Given the description of an element on the screen output the (x, y) to click on. 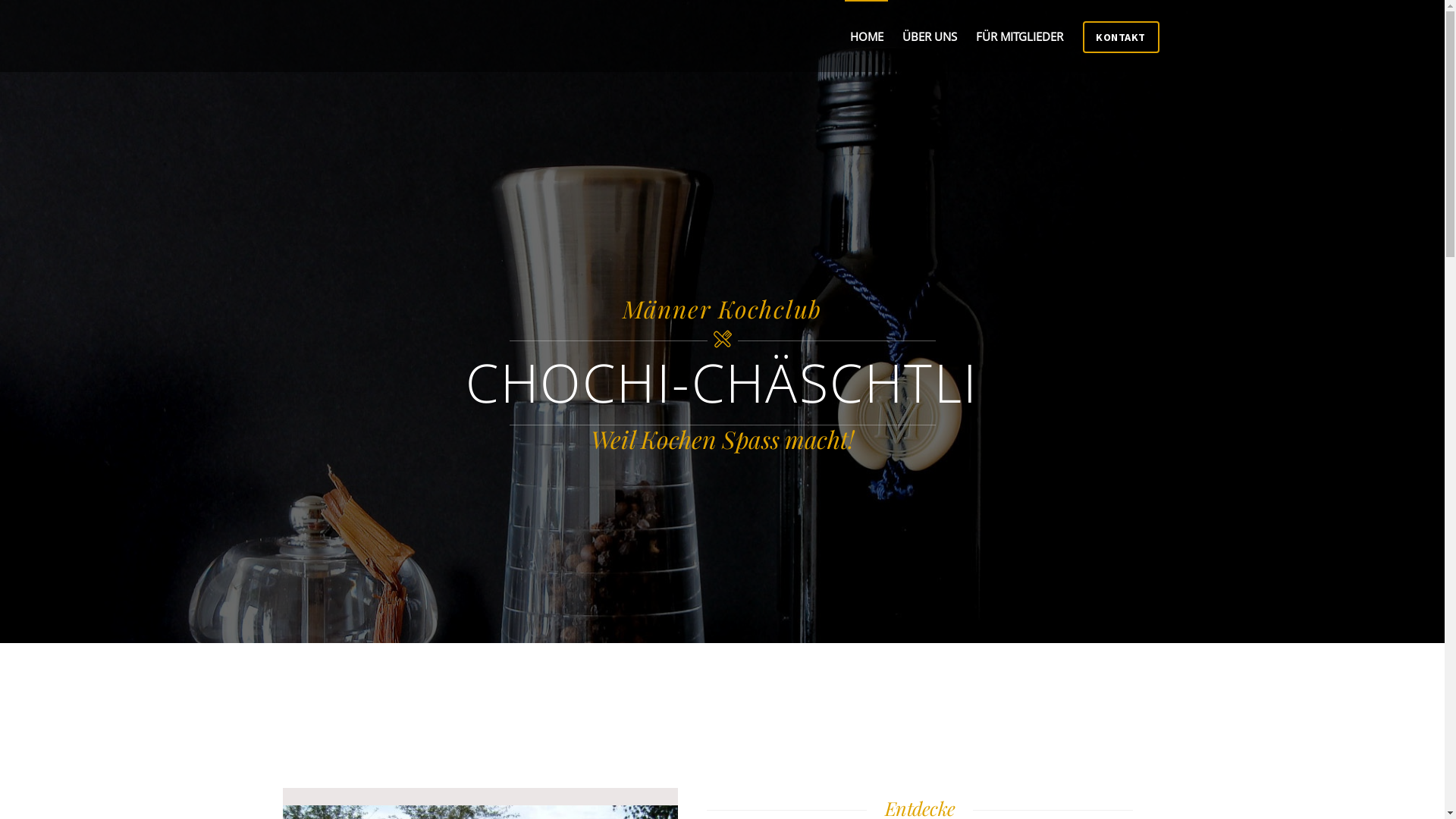
HOME Element type: text (866, 36)
KONTAKT Element type: text (1120, 37)
